Given the description of an element on the screen output the (x, y) to click on. 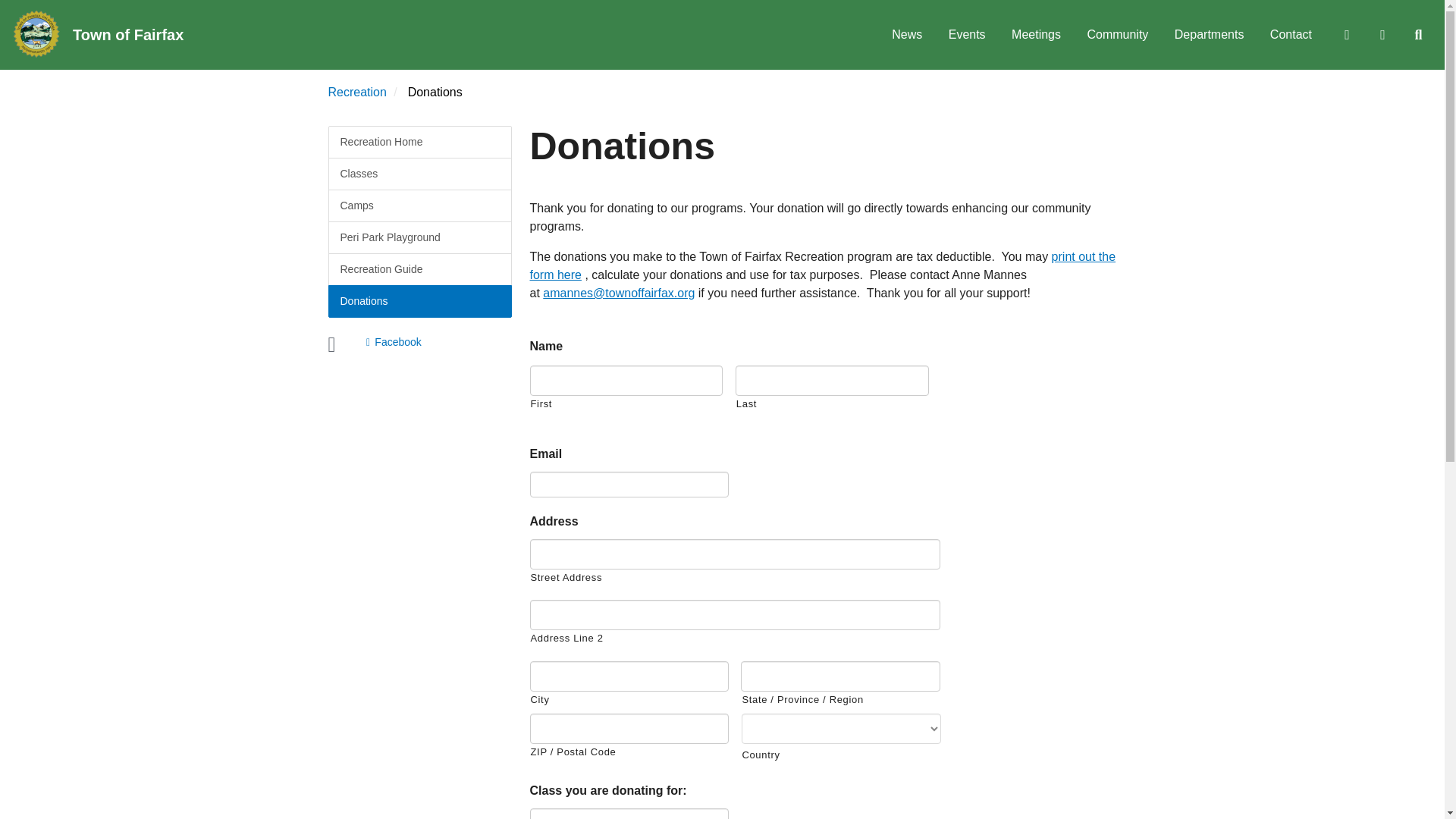
Meetings (1035, 34)
Report Issue (1345, 35)
Departments (1209, 34)
Community (1116, 34)
Camps (419, 205)
Recreation Guide (419, 269)
Home (36, 34)
Peri Park Playground (419, 237)
Report Issue (1345, 35)
Home (133, 34)
News (906, 34)
Home (36, 33)
Classes (419, 174)
Donations (419, 301)
